Given the description of an element on the screen output the (x, y) to click on. 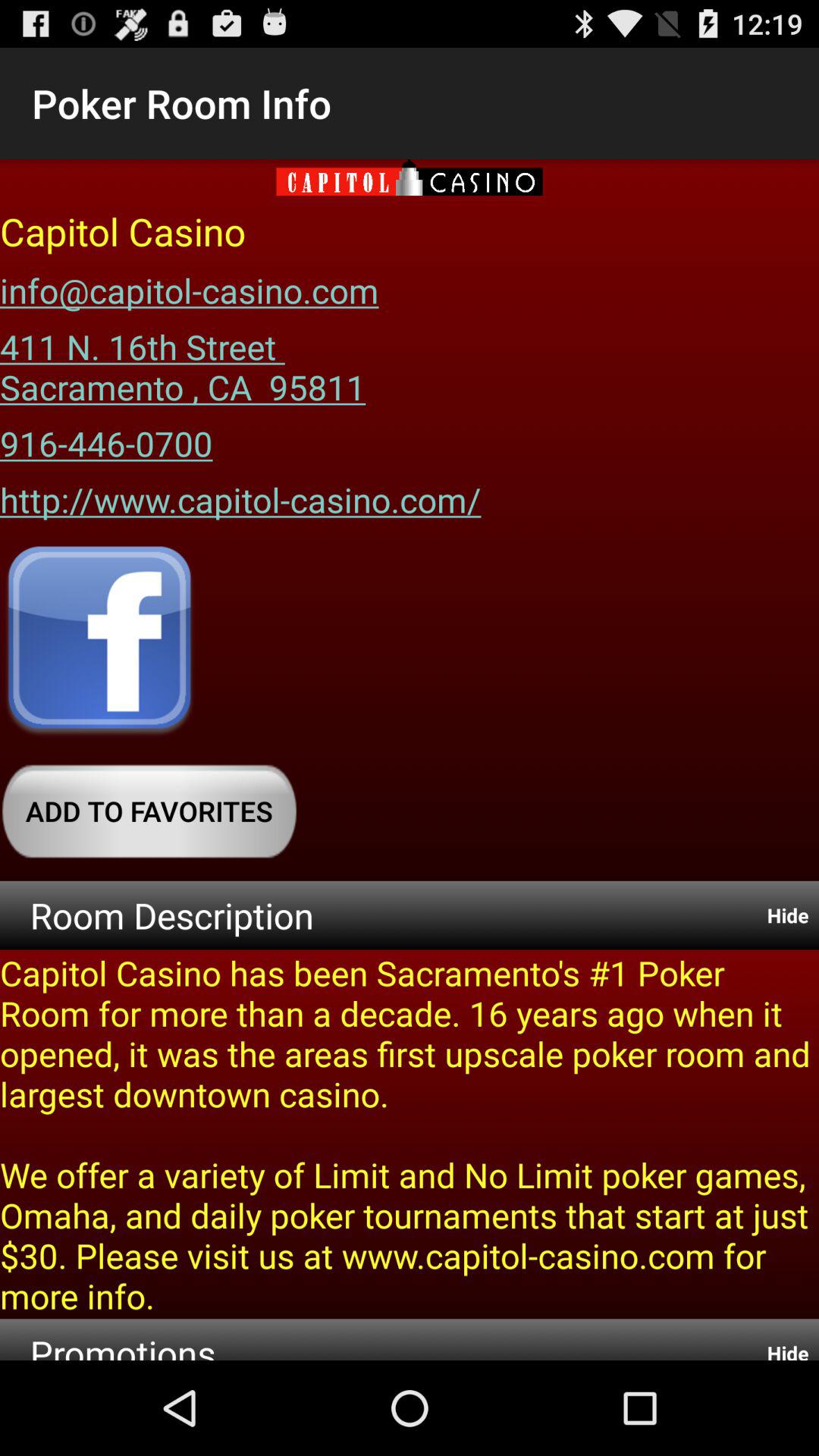
click item above the room description item (149, 811)
